Given the description of an element on the screen output the (x, y) to click on. 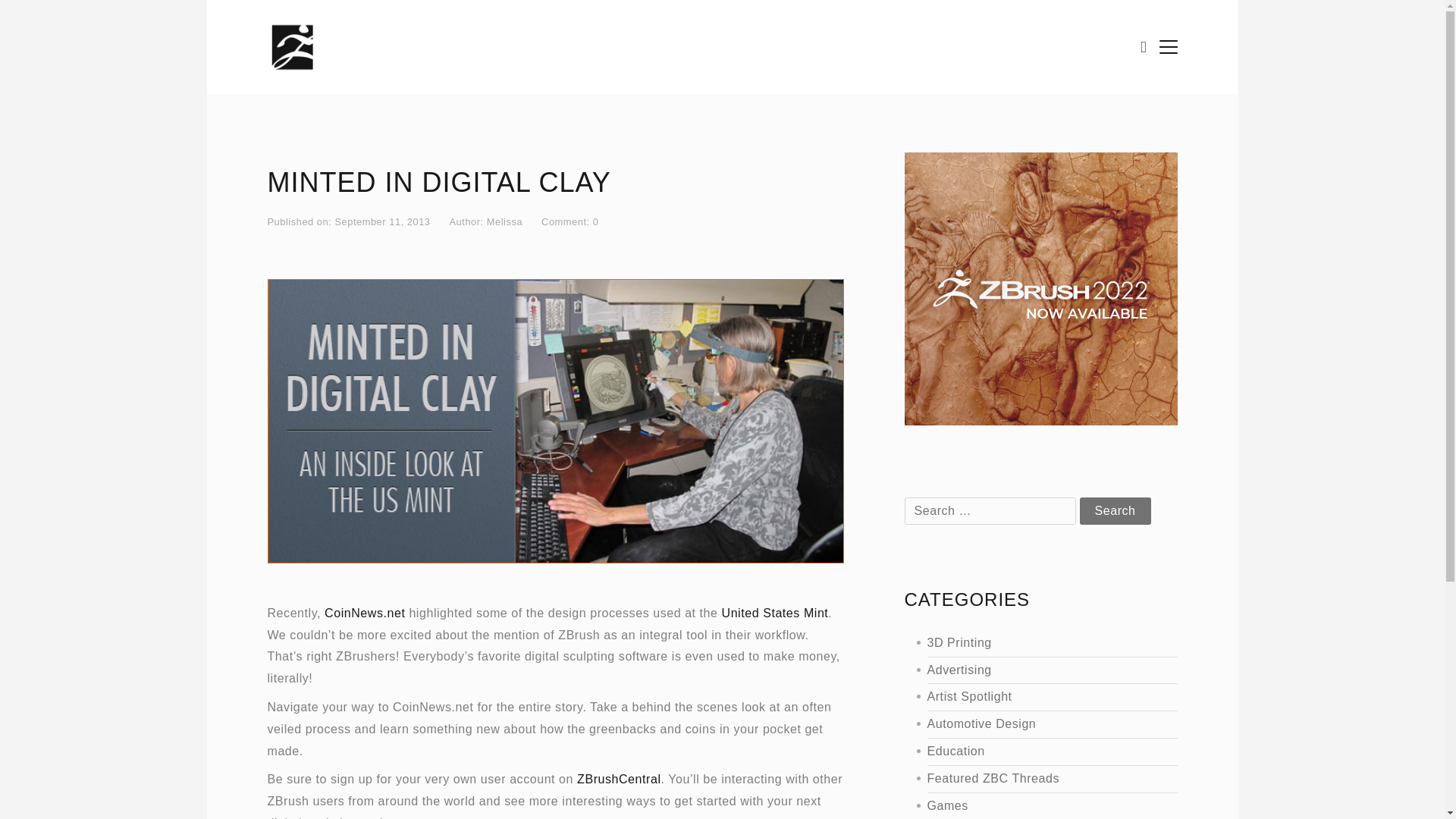
Melissa (504, 221)
ZBrushCentral (618, 779)
Games (1034, 806)
Search (1115, 510)
Game Design with ZBrush (1034, 806)
ZBrush in the Education Field (1034, 751)
CoinNews.net (364, 612)
Featured ZBC Threads (1034, 779)
Search (1115, 510)
Automotive Design (1034, 724)
United States Mint (775, 612)
Automotive Design with ZBrush (1034, 724)
September 11, 2013 (381, 221)
Education (1034, 751)
Artist Spotlight (1034, 697)
